Given the description of an element on the screen output the (x, y) to click on. 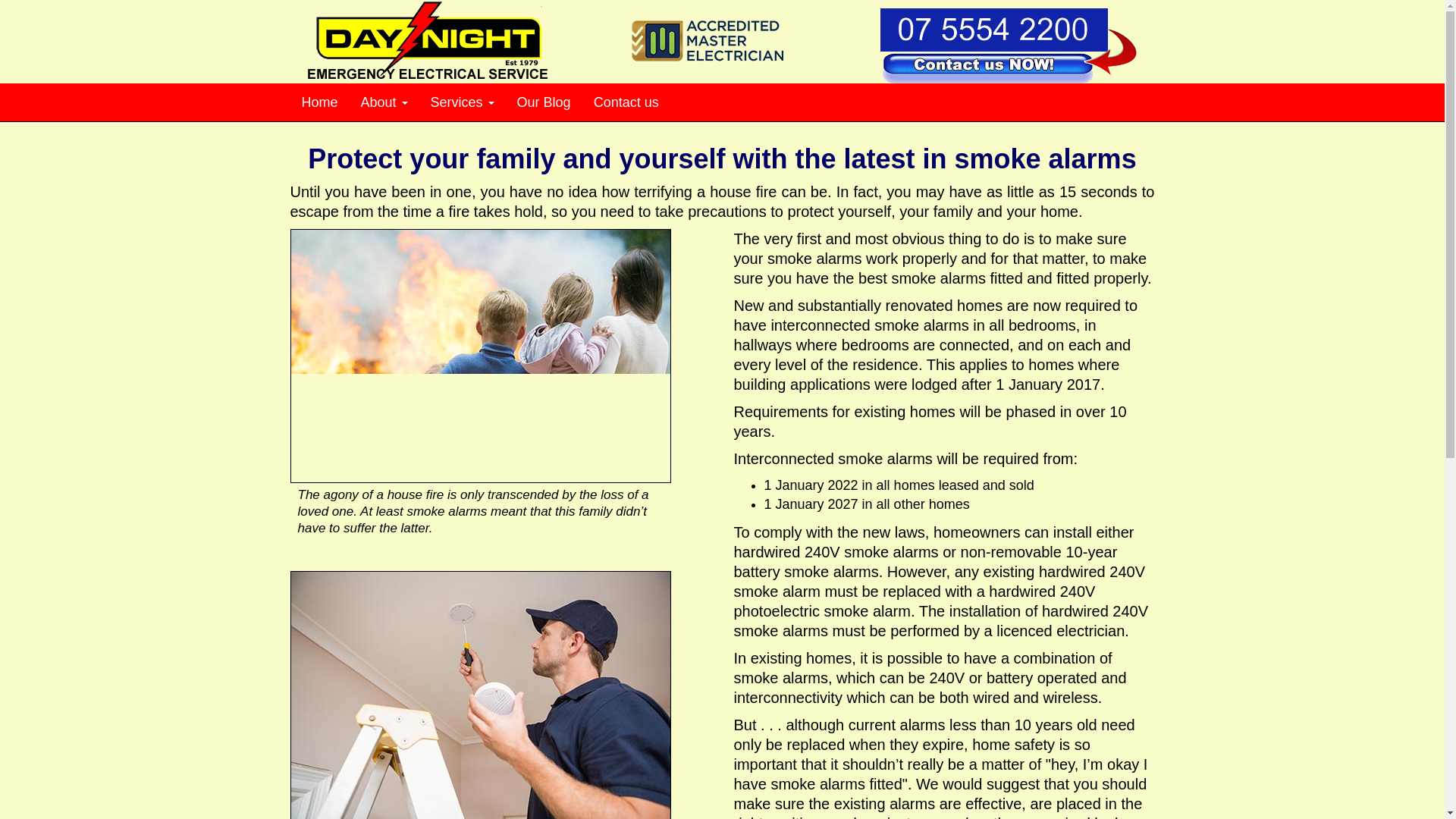
Home (319, 102)
Services (462, 102)
Contact us (625, 102)
About (384, 102)
Our Blog (543, 102)
